Given the description of an element on the screen output the (x, y) to click on. 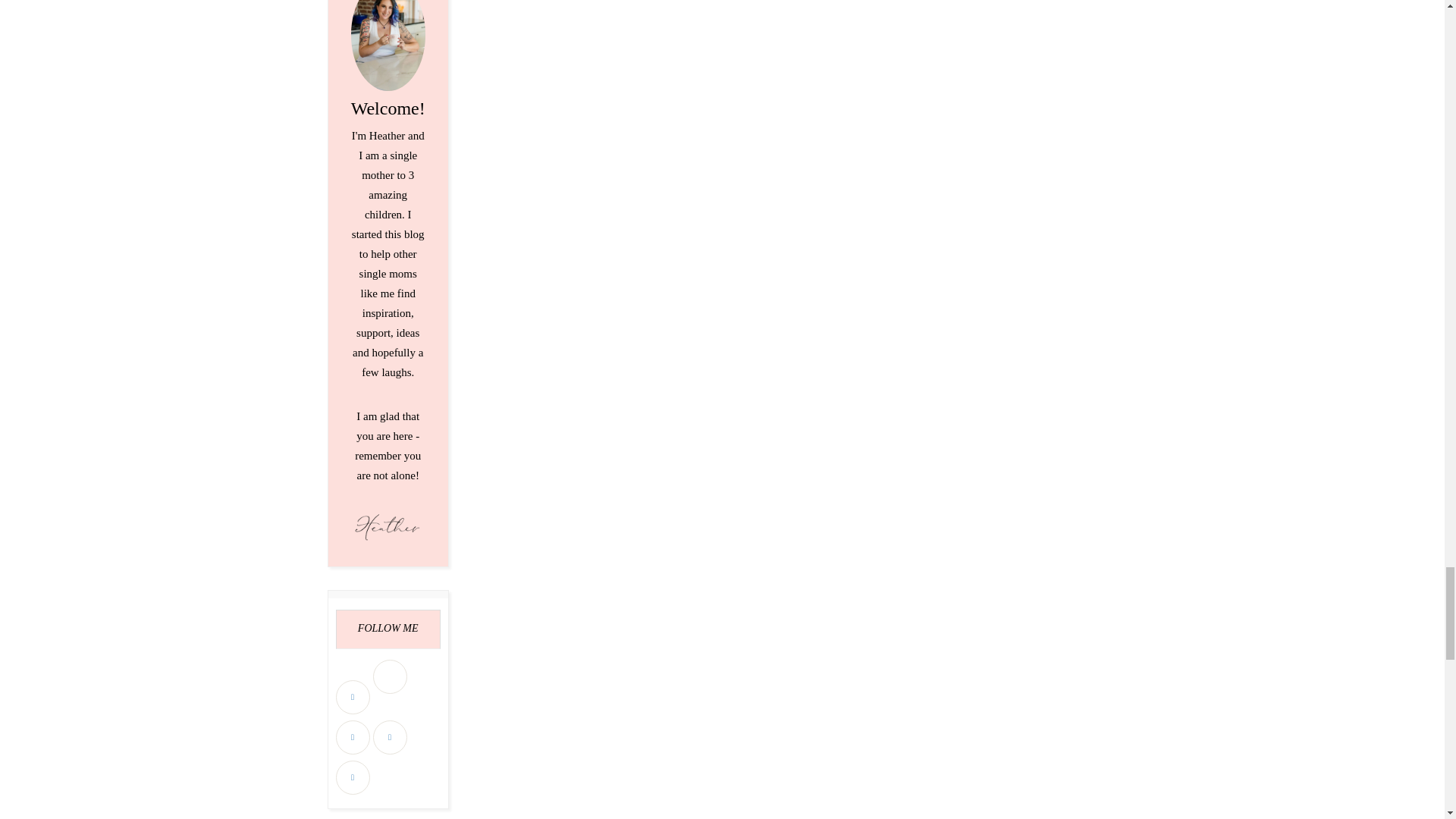
signature (387, 526)
